Given the description of an element on the screen output the (x, y) to click on. 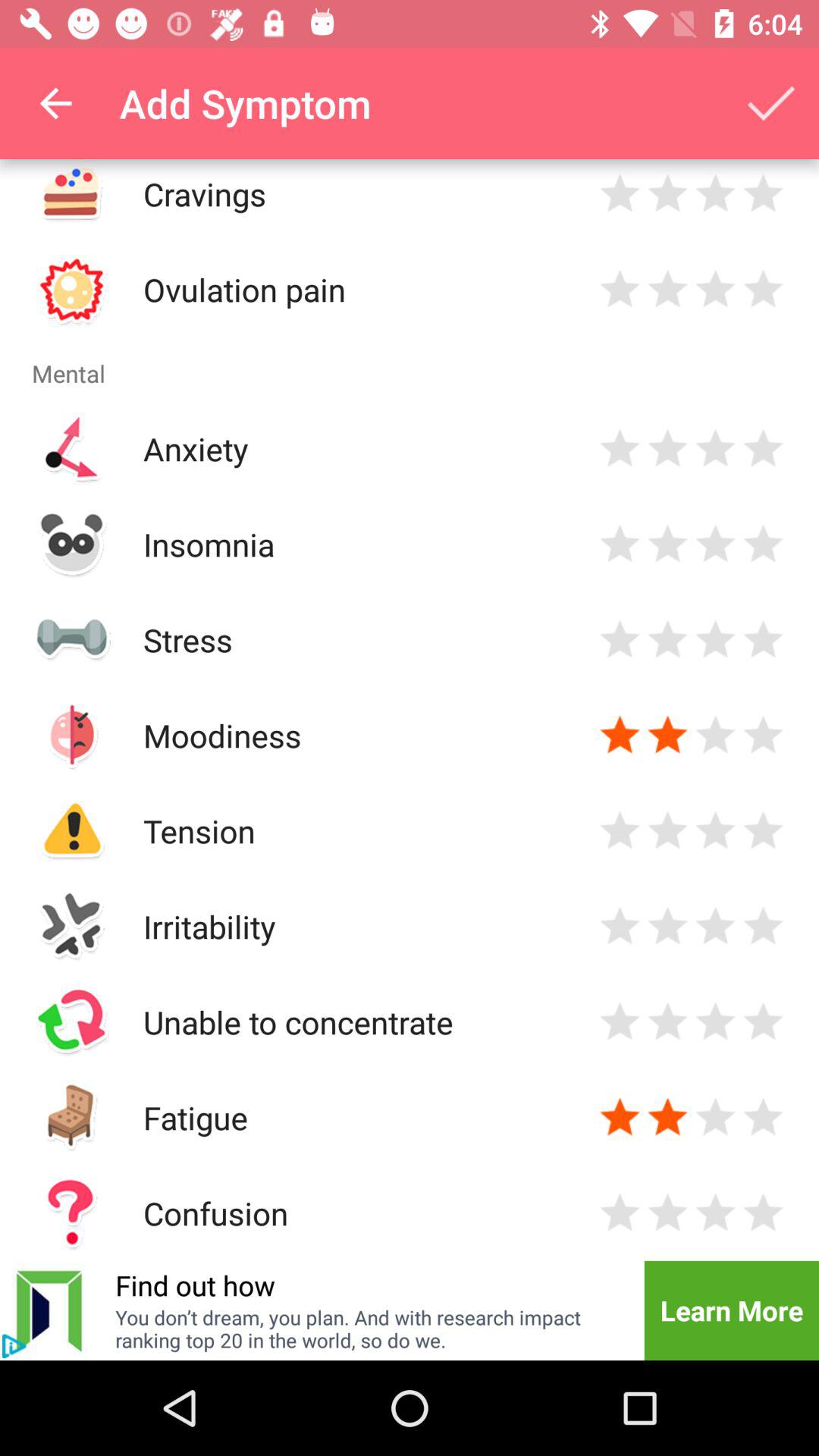
rate three stars (715, 1117)
